Given the description of an element on the screen output the (x, y) to click on. 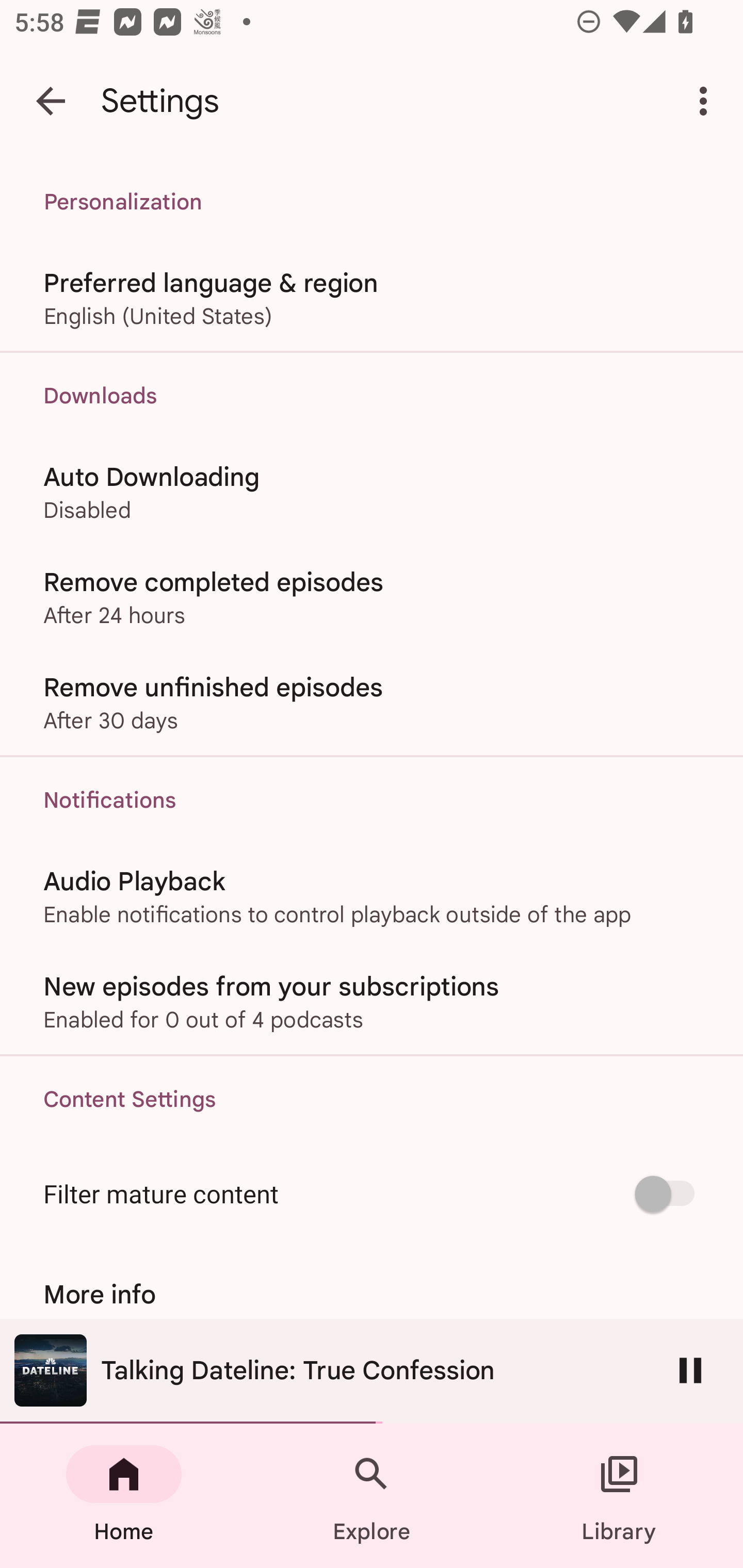
Navigate up (50, 101)
More options (706, 101)
Auto Downloading Disabled (371, 491)
Remove completed episodes After 24 hours (371, 596)
Remove unfinished episodes After 30 days (371, 702)
More info (371, 1294)
Pause (690, 1370)
Explore (371, 1495)
Library (619, 1495)
